Given the description of an element on the screen output the (x, y) to click on. 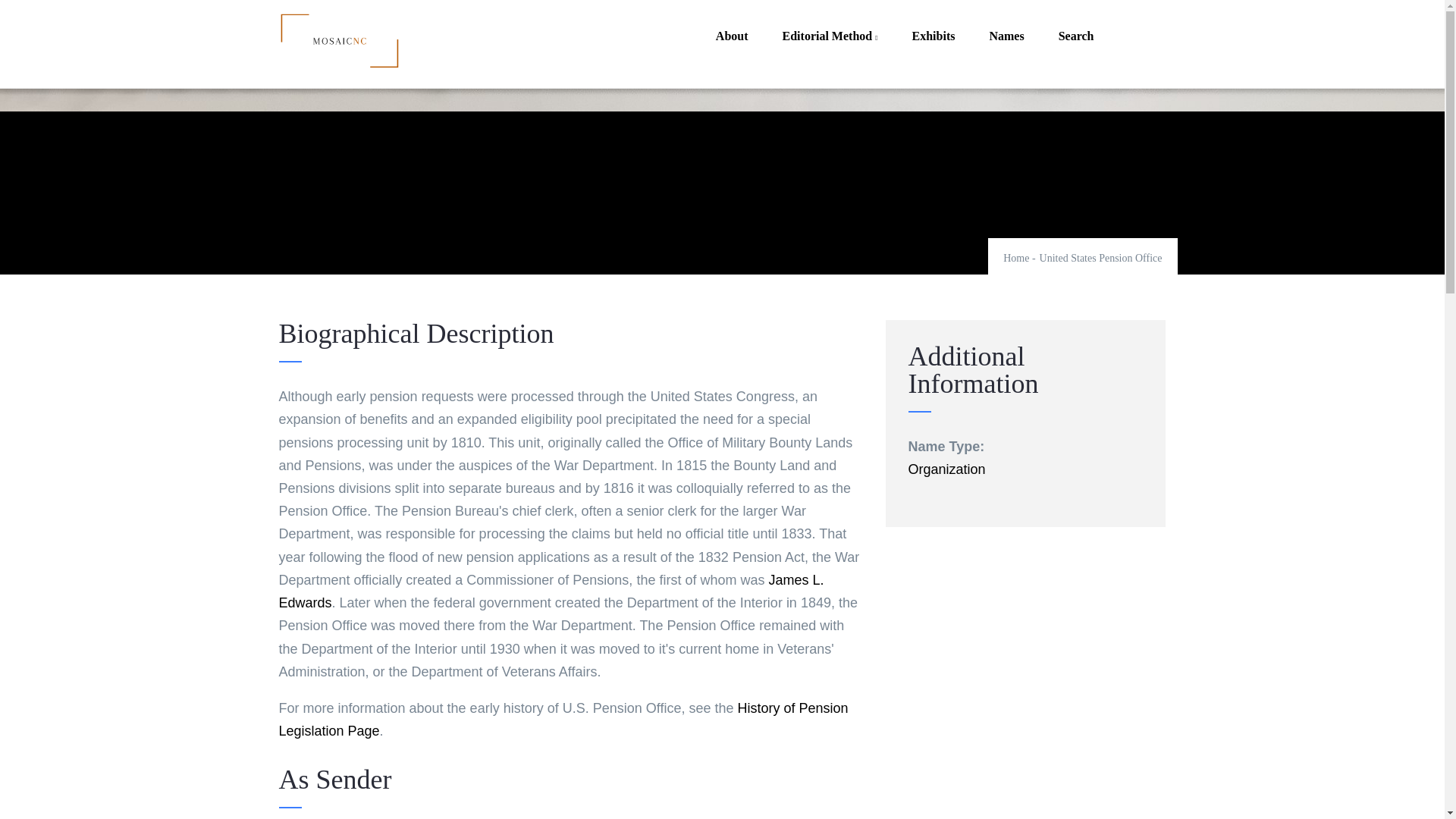
As Sender (571, 792)
Home (339, 40)
Home (1016, 257)
Exhibits (933, 36)
James L. Edwards (551, 591)
History of Pension Legislation Page (563, 719)
Search (1076, 36)
Editorial Method (830, 36)
